Given the description of an element on the screen output the (x, y) to click on. 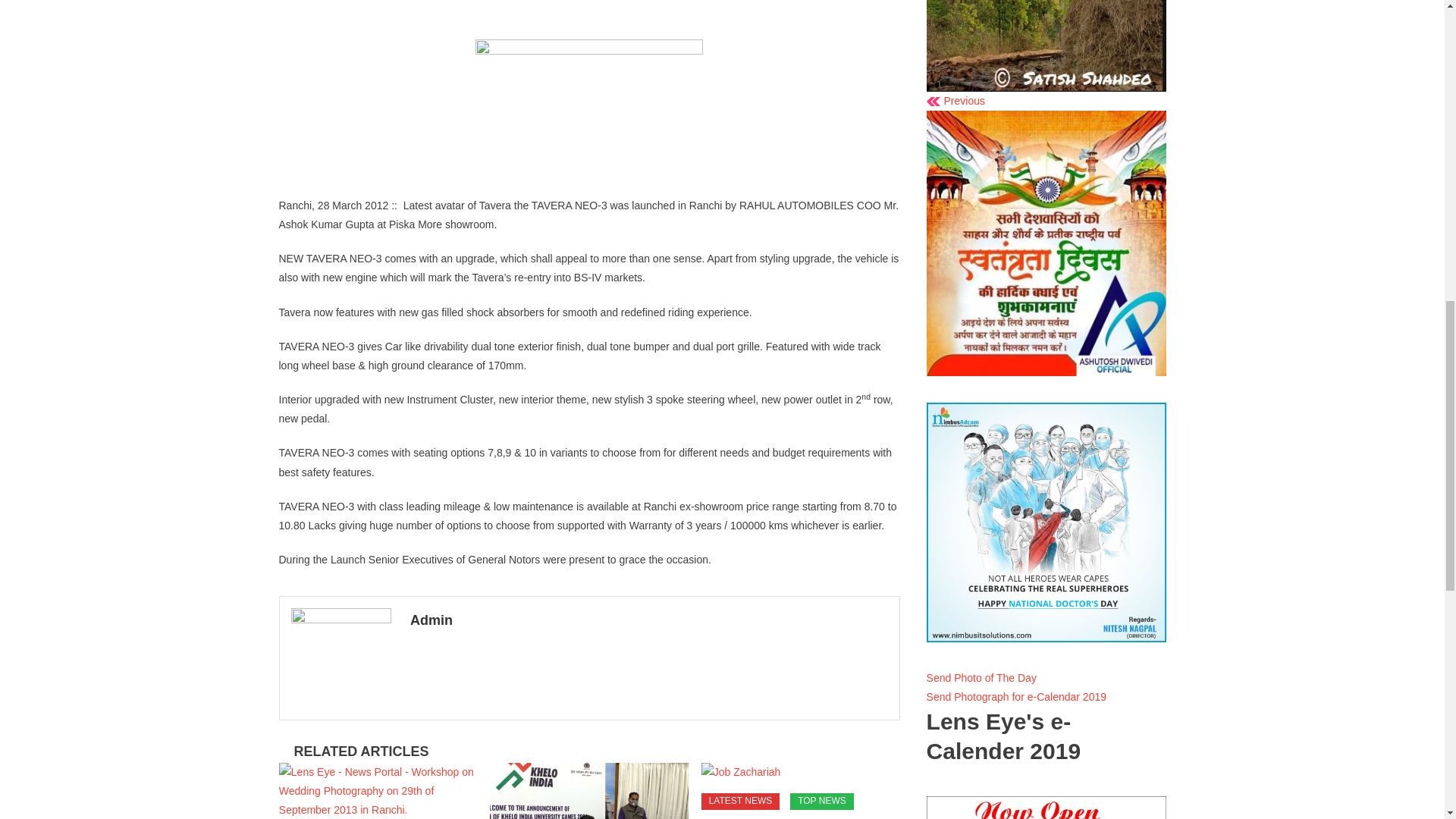
Send Photo of The Day (981, 677)
TAVERA1 (589, 109)
Photograph for e-Calendar 2019 (1016, 696)
TAVERA (589, 19)
